Given the description of an element on the screen output the (x, y) to click on. 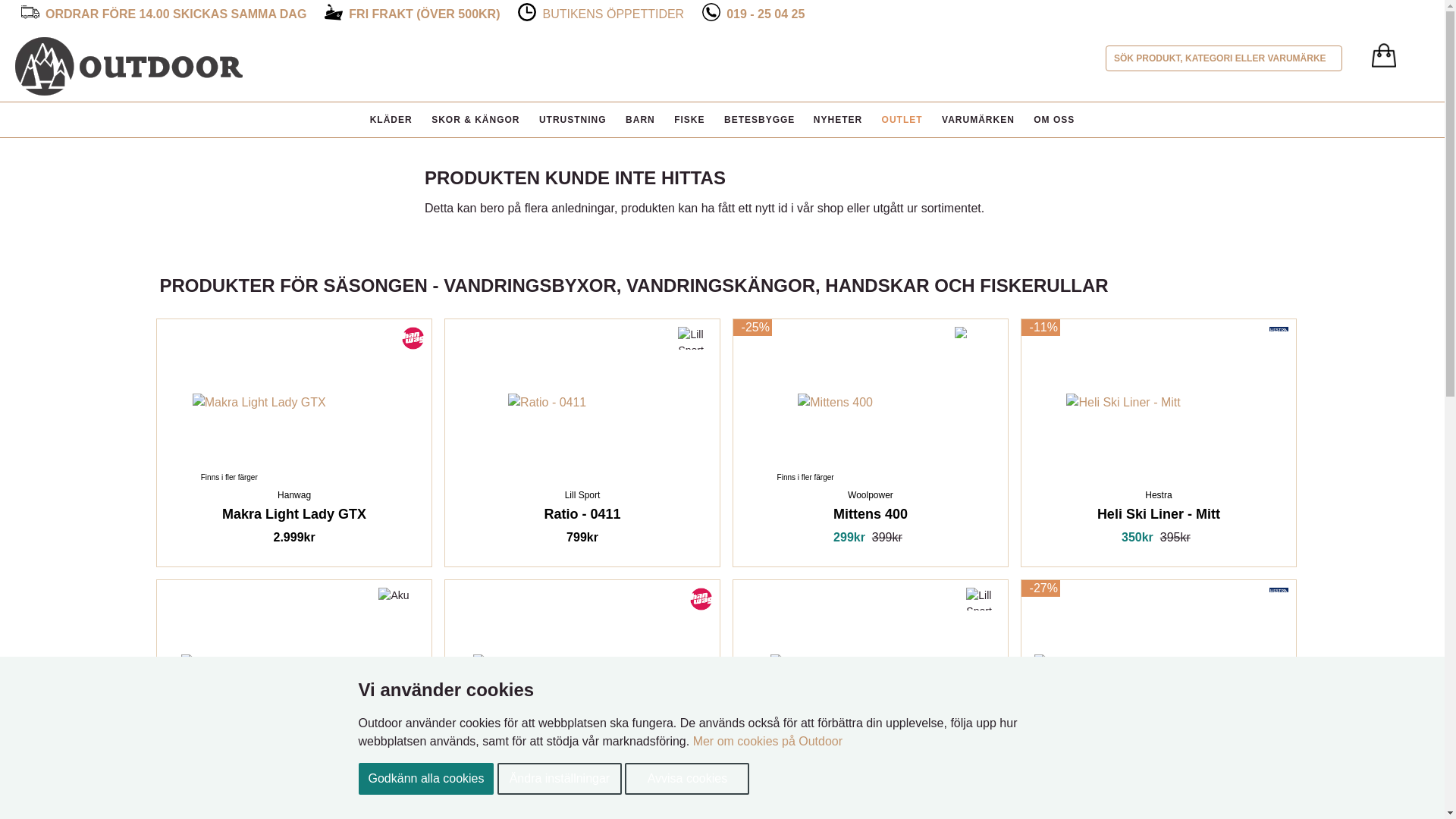
Makra Light Lady GTX (259, 402)
Mittens 400 (834, 402)
Heli Ski Liner - Mitt (1122, 402)
019 - 25 04 25 (765, 13)
Wool Liner Mitt - 3016 (835, 663)
Ratio - 0411 (547, 402)
W's Banks SF Extra GTX (547, 663)
W's Trekker L.3 Wide GTX (258, 663)
Army Leather Heli Ski 3-Finger (1122, 663)
